Given the description of an element on the screen output the (x, y) to click on. 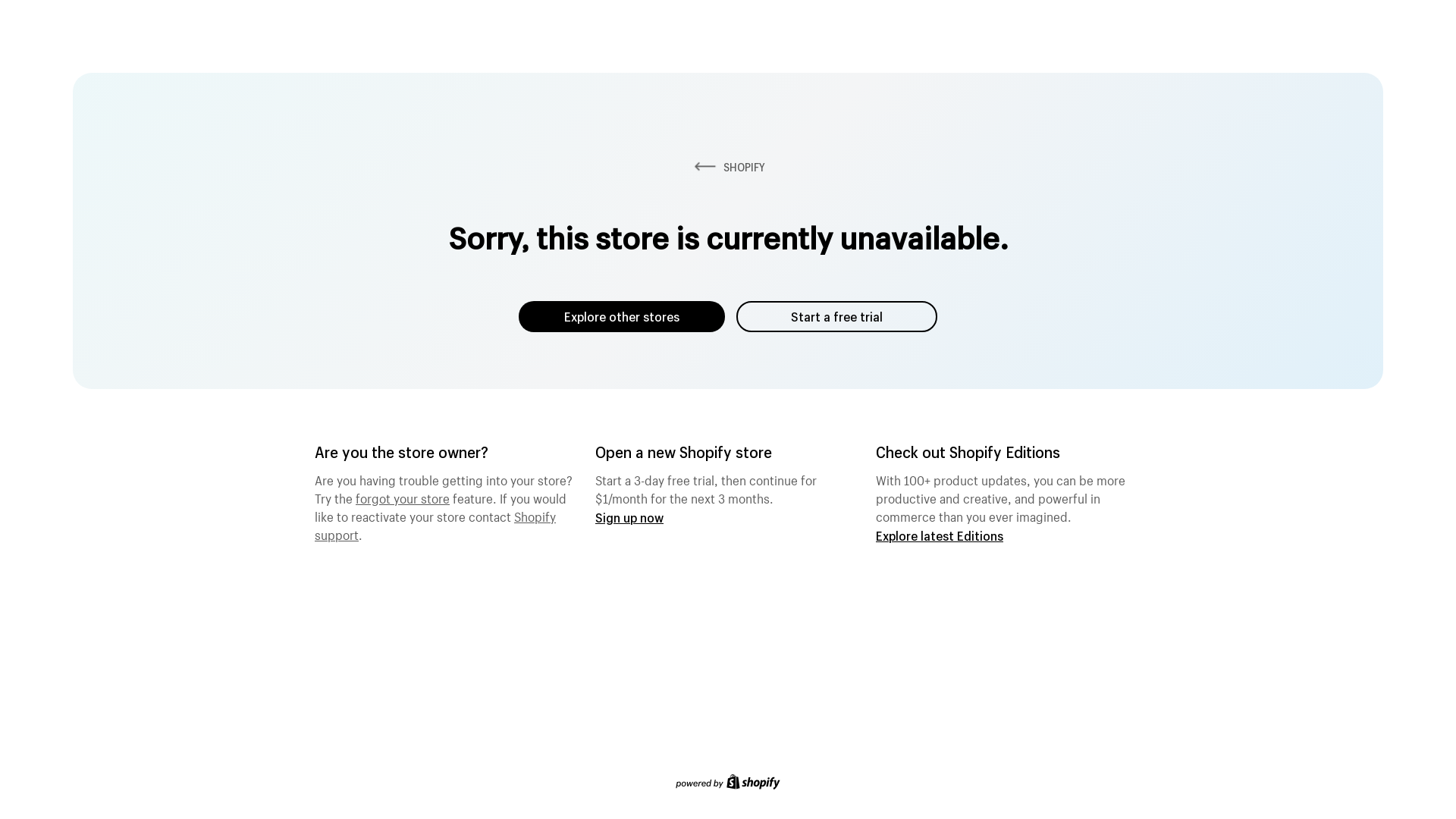
Start a free trial Element type: text (836, 316)
Shopify support Element type: text (434, 523)
Sign up now Element type: text (629, 517)
forgot your store Element type: text (402, 496)
Explore other stores Element type: text (621, 316)
SHOPIFY Element type: text (727, 167)
Explore latest Editions Element type: text (939, 535)
